Given the description of an element on the screen output the (x, y) to click on. 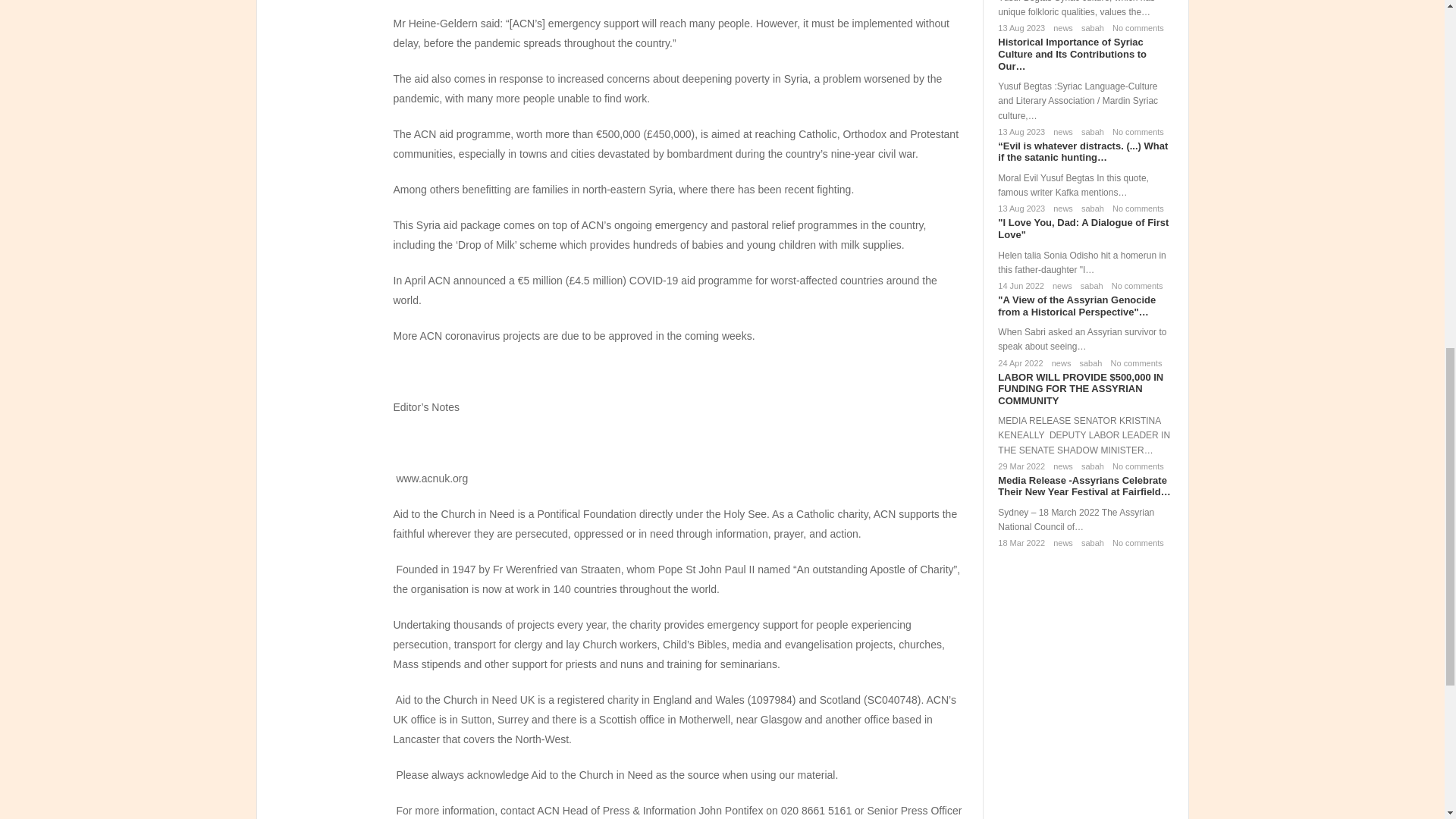
I Love You, Dad: A Dialogue of First Love (1083, 228)
